Given the description of an element on the screen output the (x, y) to click on. 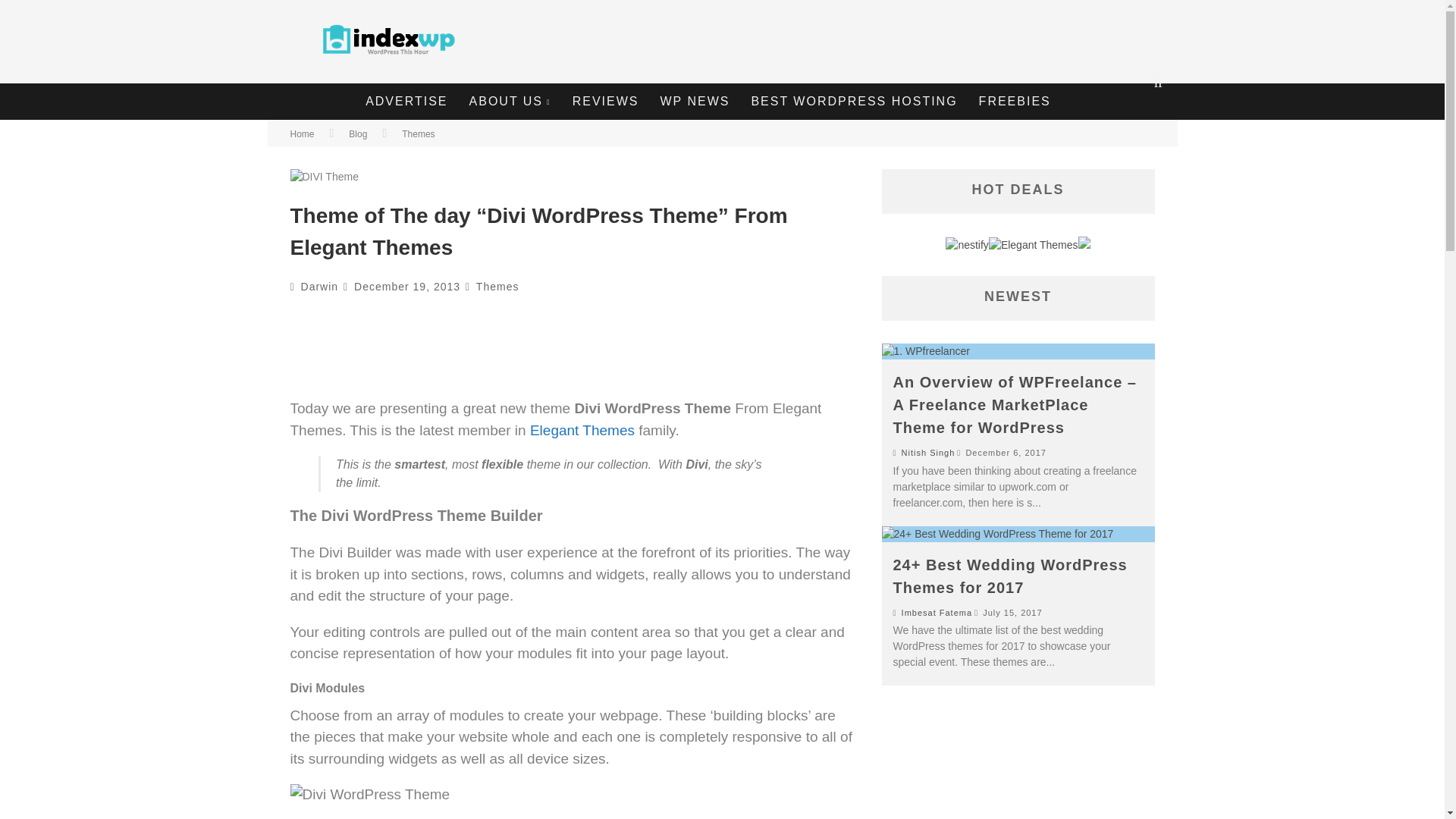
WP NEWS (694, 101)
REVIEWS (605, 101)
View all posts in Themes (497, 286)
View all posts in Themes (417, 133)
ABOUT US (510, 101)
ADVERTISE (405, 101)
View all posts in Blog (357, 133)
